Given the description of an element on the screen output the (x, y) to click on. 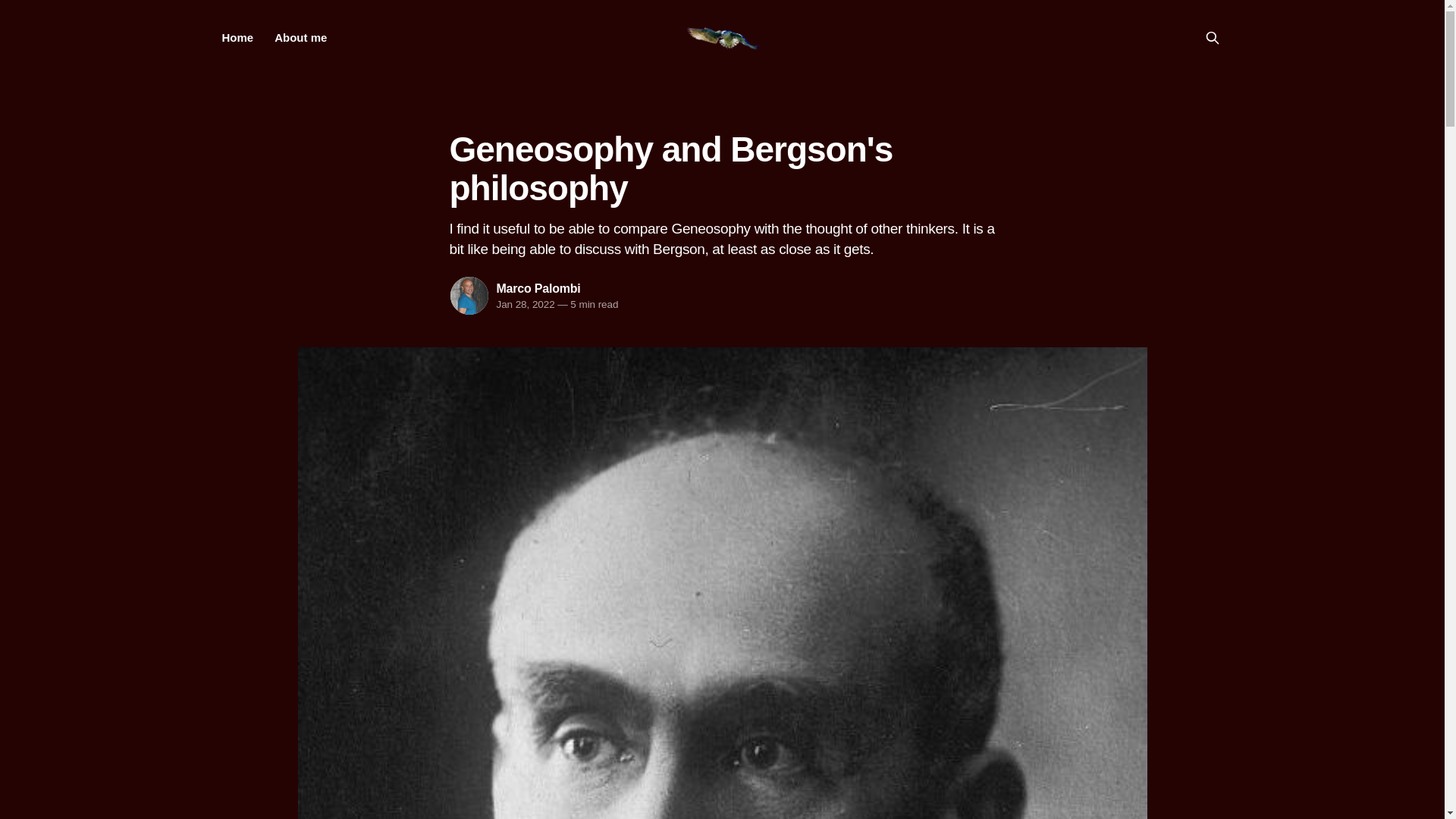
Home (237, 37)
Marco Palombi (537, 287)
About me (300, 37)
